Given the description of an element on the screen output the (x, y) to click on. 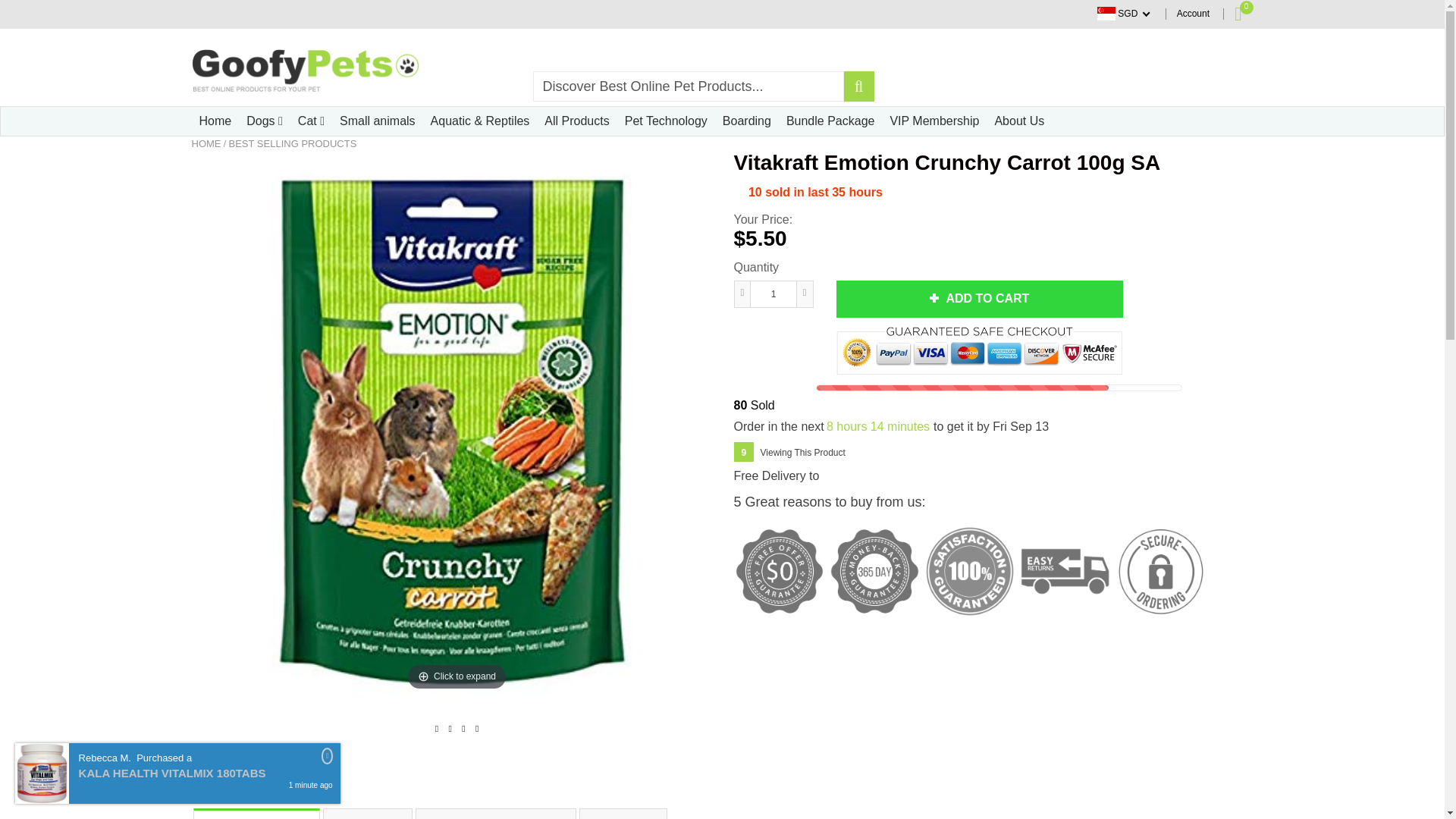
0 (1237, 13)
1 (772, 294)
Account (1192, 13)
Back to the home page (205, 143)
